Given the description of an element on the screen output the (x, y) to click on. 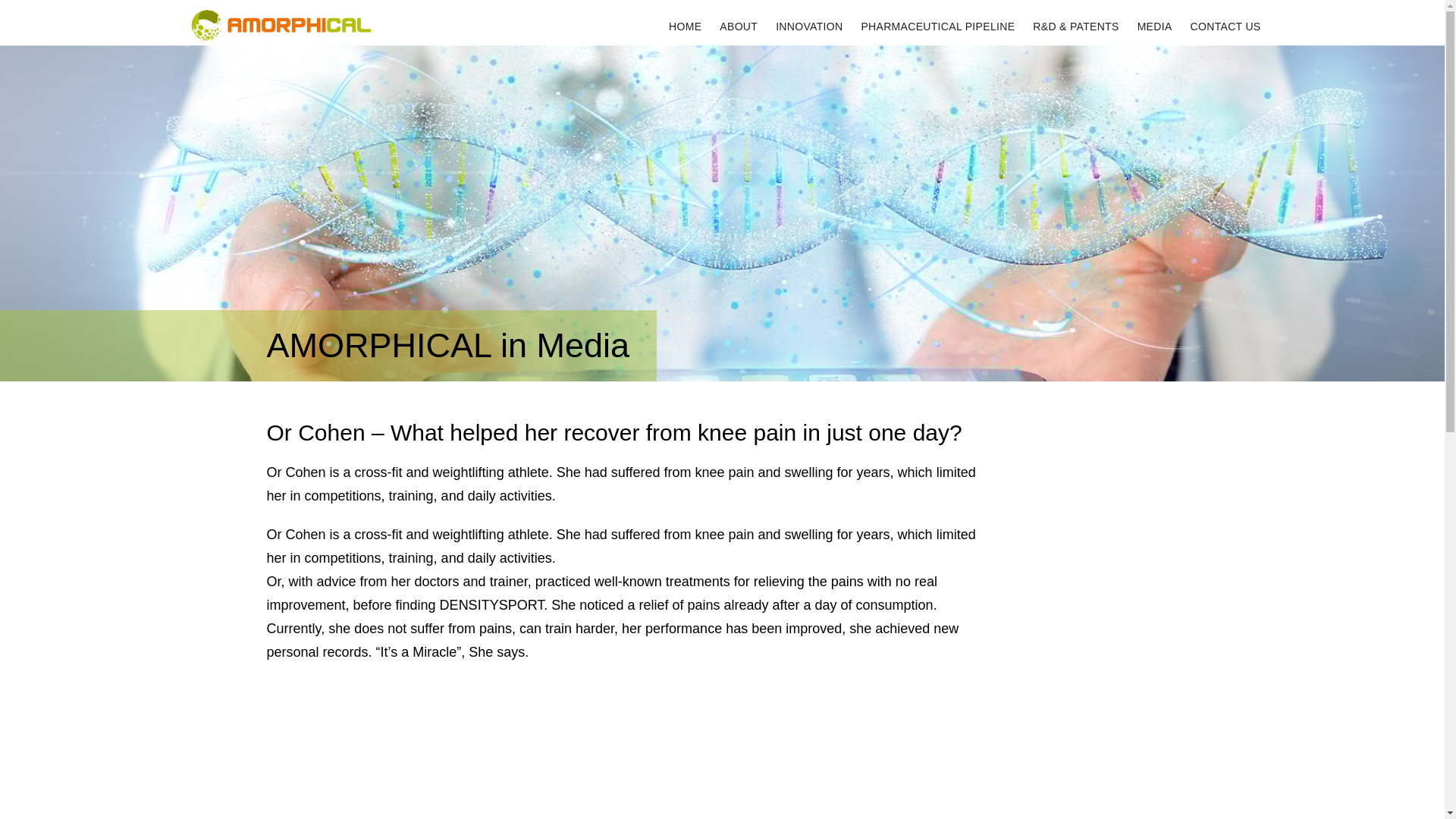
INNOVATION (809, 32)
MEDIA (1154, 32)
HOME (684, 32)
CONTACT US (1225, 32)
PHARMACEUTICAL PIPELINE (937, 32)
ABOUT (738, 32)
